Given the description of an element on the screen output the (x, y) to click on. 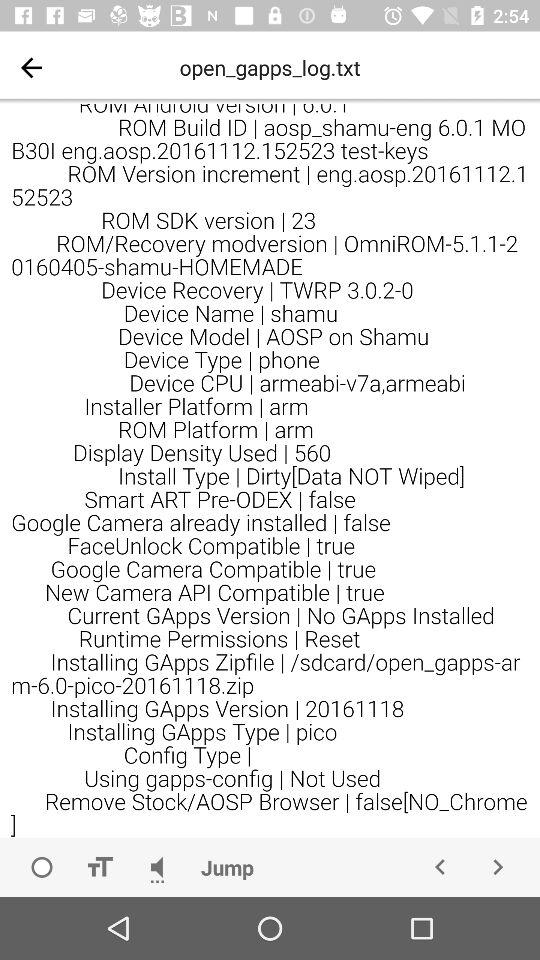
go back (31, 67)
